Given the description of an element on the screen output the (x, y) to click on. 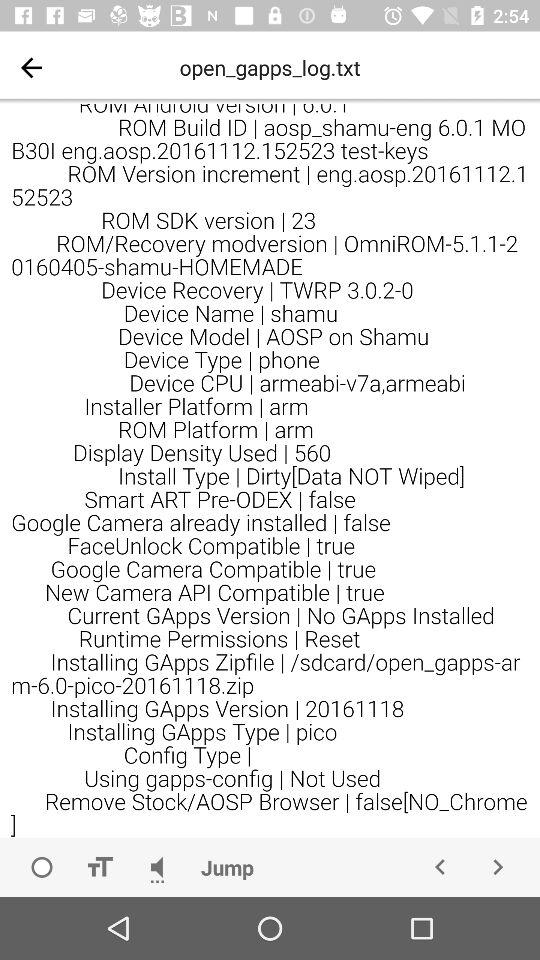
go back (31, 67)
